Given the description of an element on the screen output the (x, y) to click on. 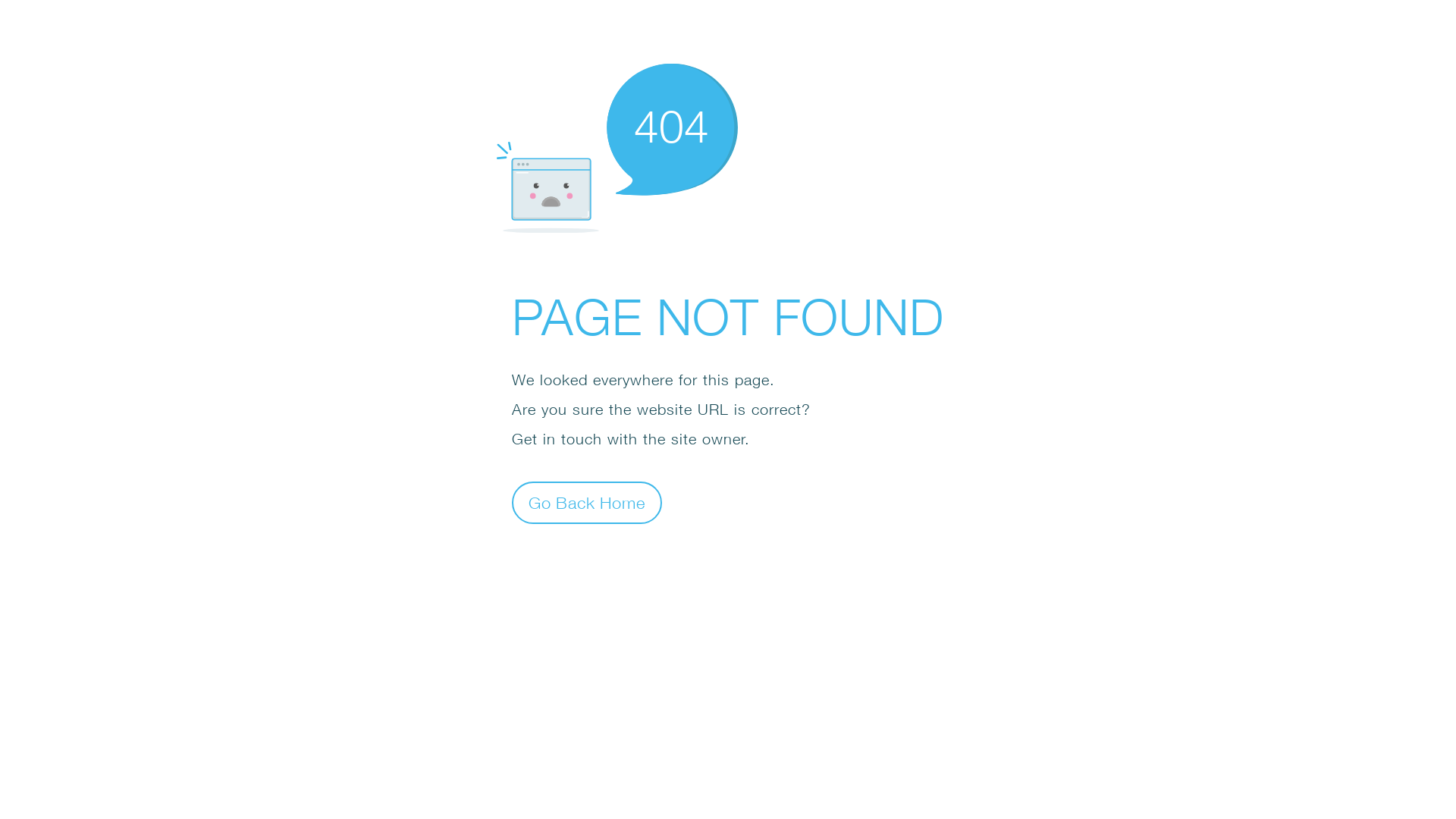
Go Back Home Element type: text (586, 502)
